Given the description of an element on the screen output the (x, y) to click on. 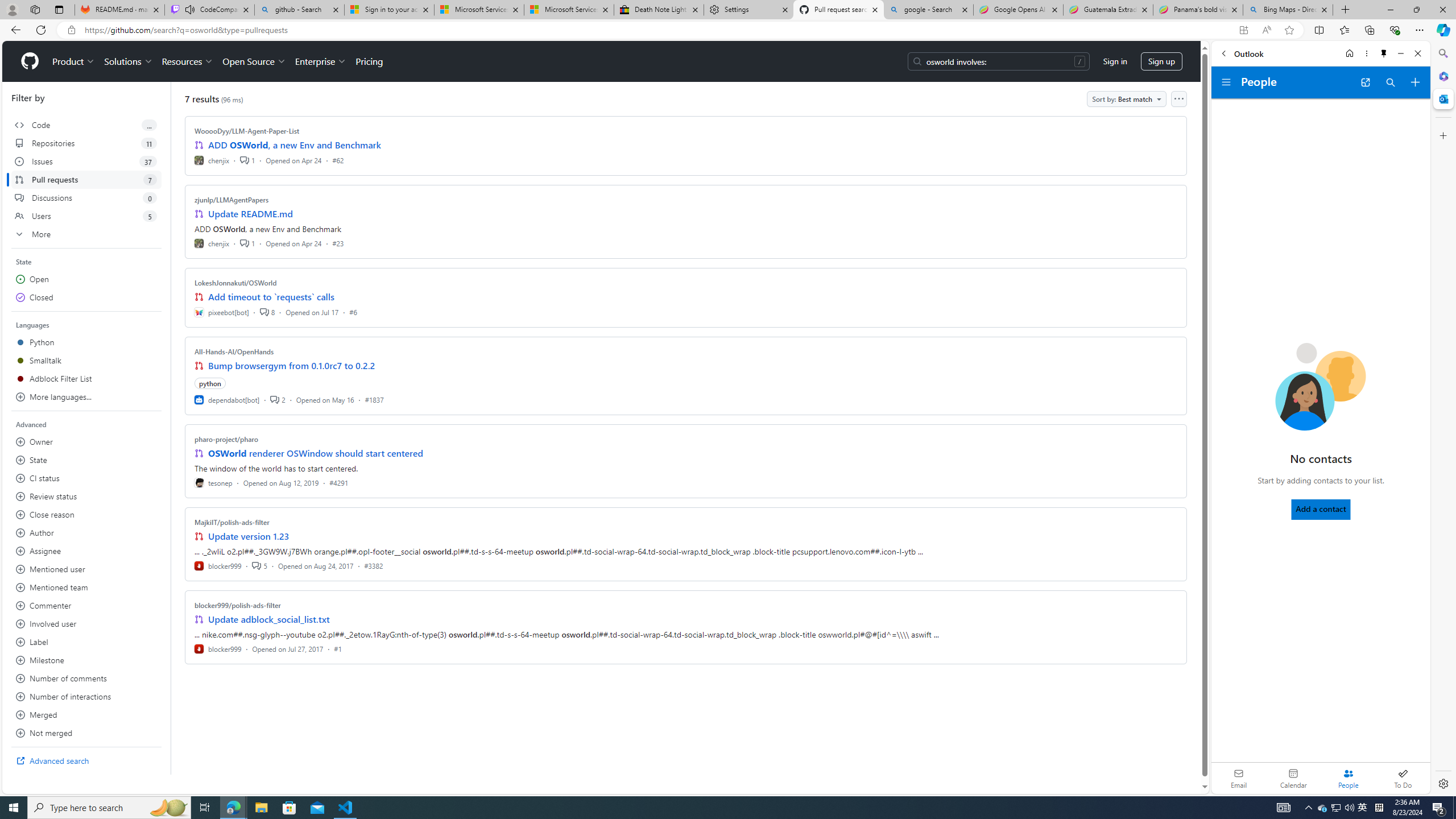
#6 (352, 311)
#1837 (374, 398)
#62 (337, 159)
#4291 (338, 482)
Calendar. Date today is 22 (1293, 777)
WooooDyy/LLM-Agent-Paper-List (247, 130)
